Given the description of an element on the screen output the (x, y) to click on. 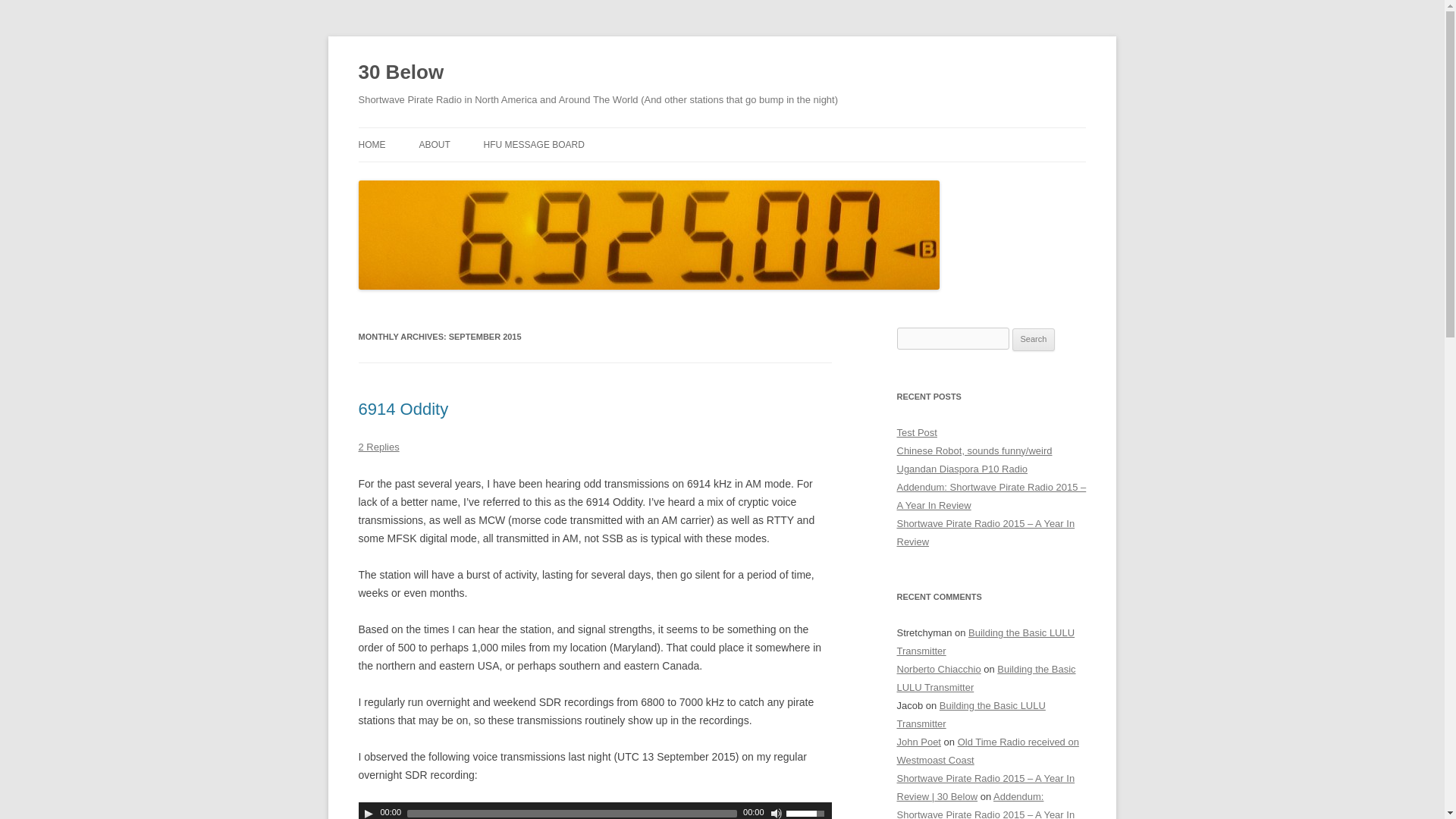
30 Below (401, 72)
ABOUT (434, 144)
6914 Oddity (403, 408)
HFU MESSAGE BOARD (534, 144)
Skip to content (757, 132)
Skip to content (757, 132)
30 Below (401, 72)
Permalink to 6914 Oddity (403, 408)
Mute Toggle (776, 813)
Play (368, 813)
Search (1033, 339)
Comment on 6914 Oddity (378, 446)
2 Replies (378, 446)
